Given the description of an element on the screen output the (x, y) to click on. 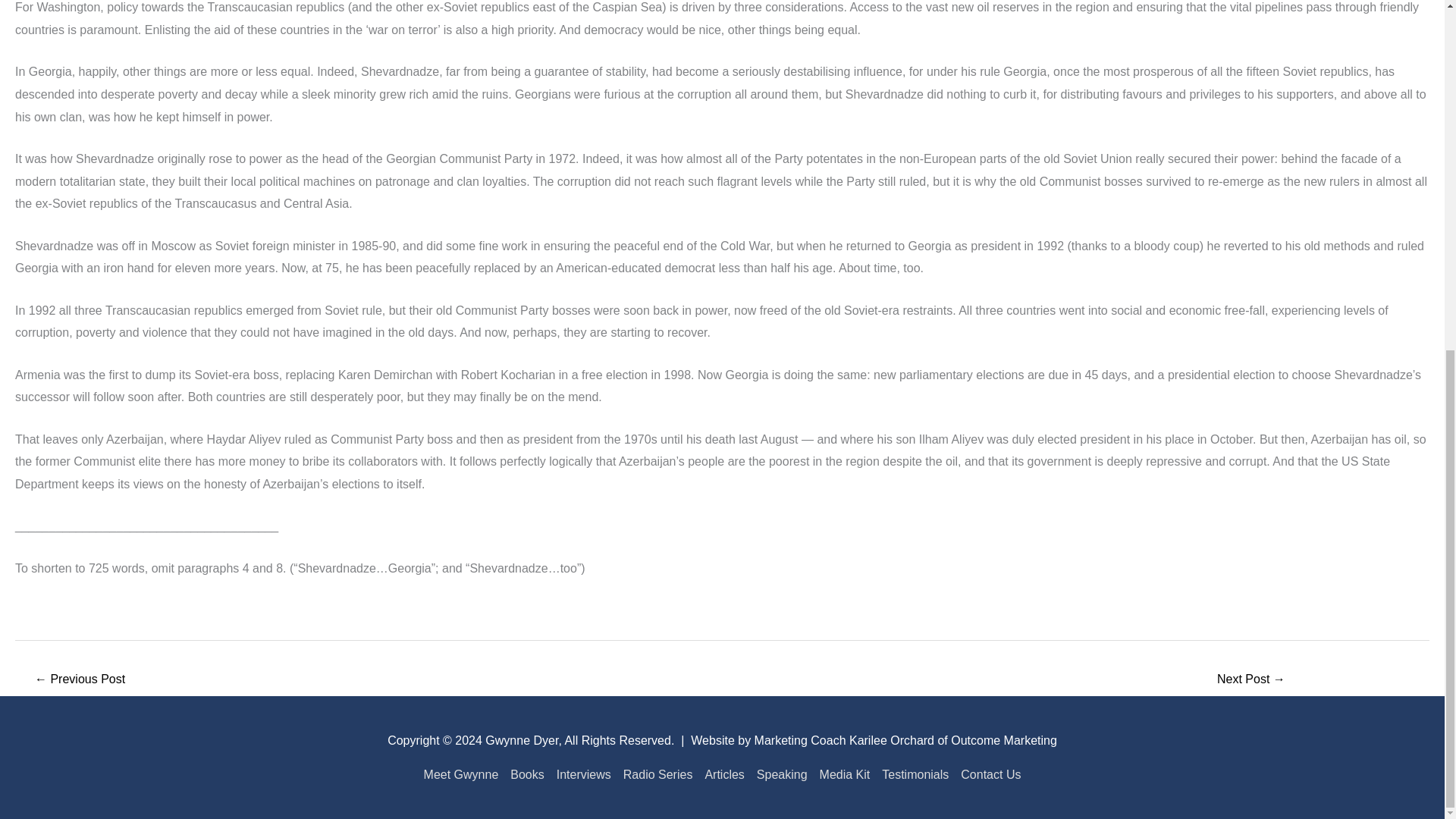
Articles (723, 774)
Contact Us (987, 774)
Barking Up The Wrong Bush (79, 680)
Interviews (583, 774)
Books (526, 774)
Media Kit (844, 774)
Radio Series (657, 774)
Destroying Pitcairn (1251, 680)
Speaking (782, 774)
Meet Gwynne (464, 774)
Testimonials (915, 774)
